Given the description of an element on the screen output the (x, y) to click on. 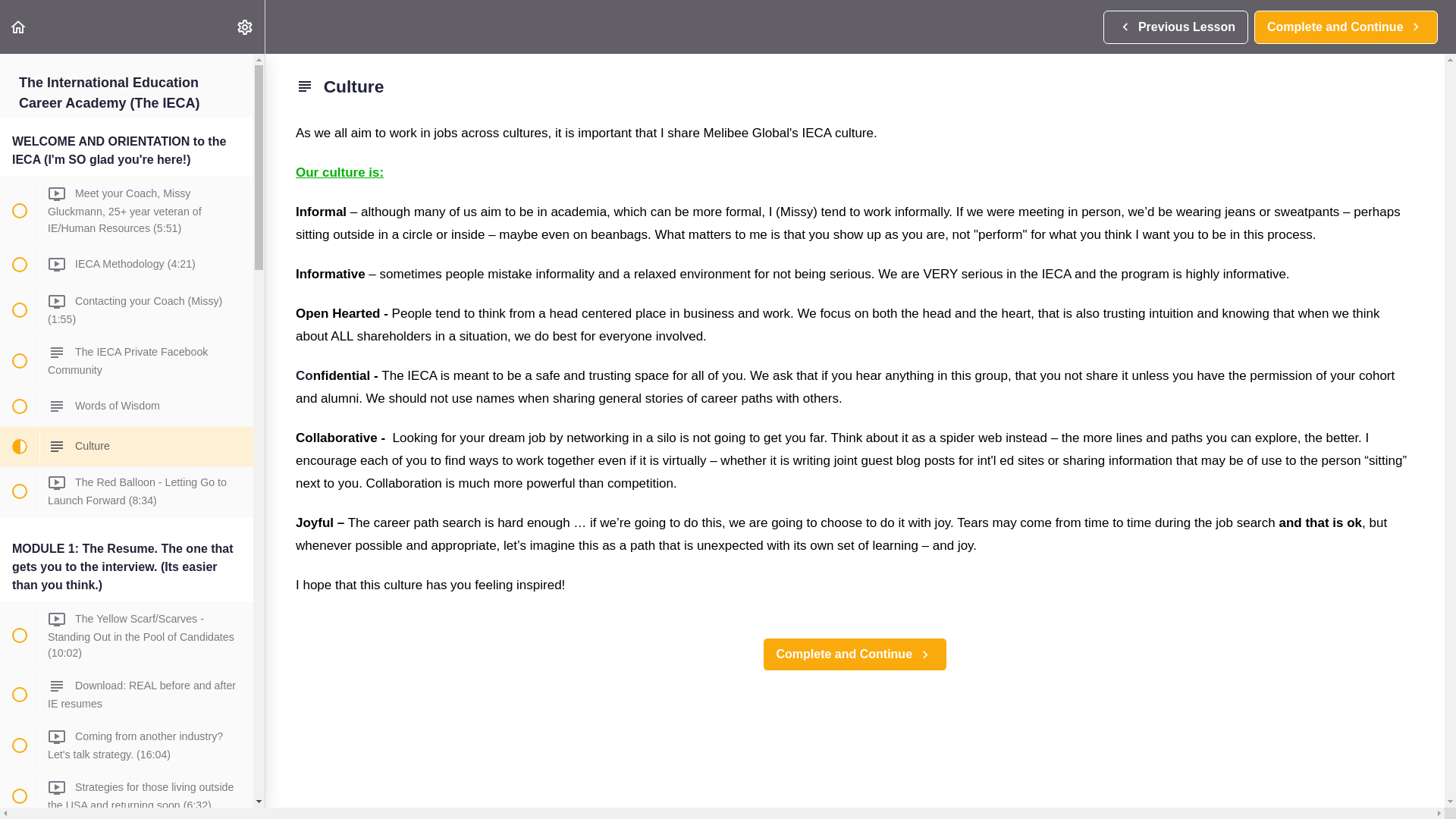
  The IECA Private Facebook Community (126, 360)
Back to course curriculum (17, 27)
  Download: REAL before and after IE resumes (1345, 27)
Settings Menu (126, 694)
  Previous Lesson (244, 27)
  Culture (1175, 27)
  Words of Wisdom (126, 446)
